Given the description of an element on the screen output the (x, y) to click on. 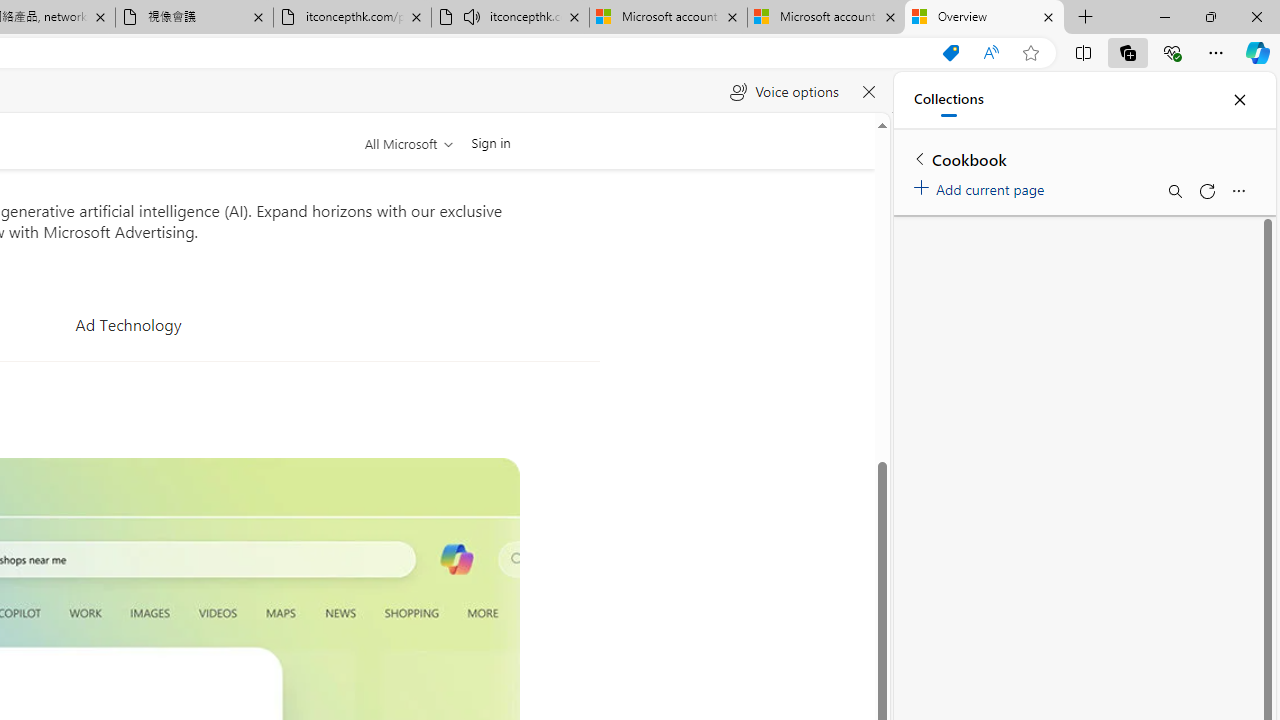
Voice options (783, 92)
Close read aloud (868, 92)
Add current page (982, 186)
Ad Technology (128, 324)
